Given the description of an element on the screen output the (x, y) to click on. 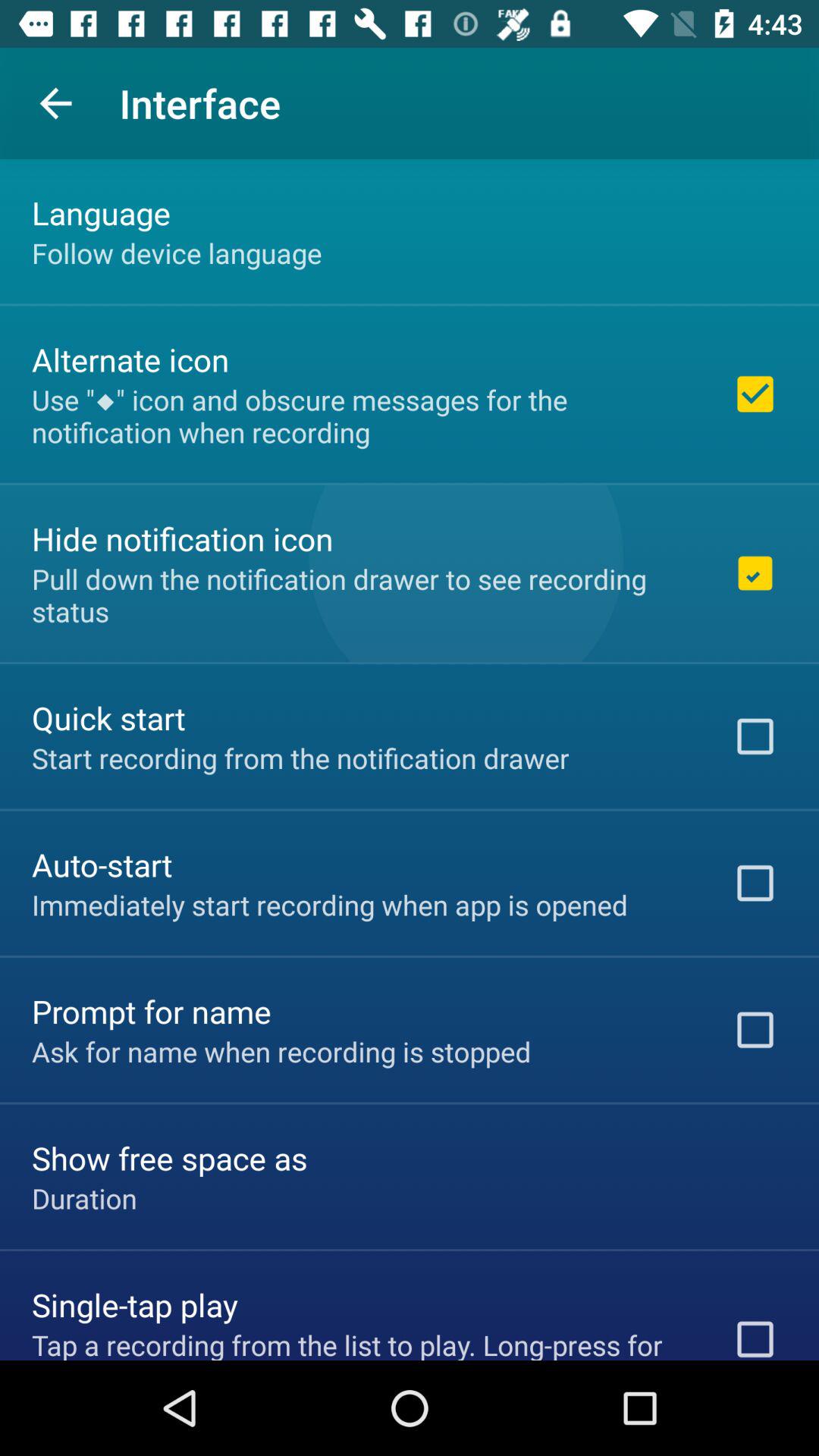
select the show free space (169, 1157)
